Given the description of an element on the screen output the (x, y) to click on. 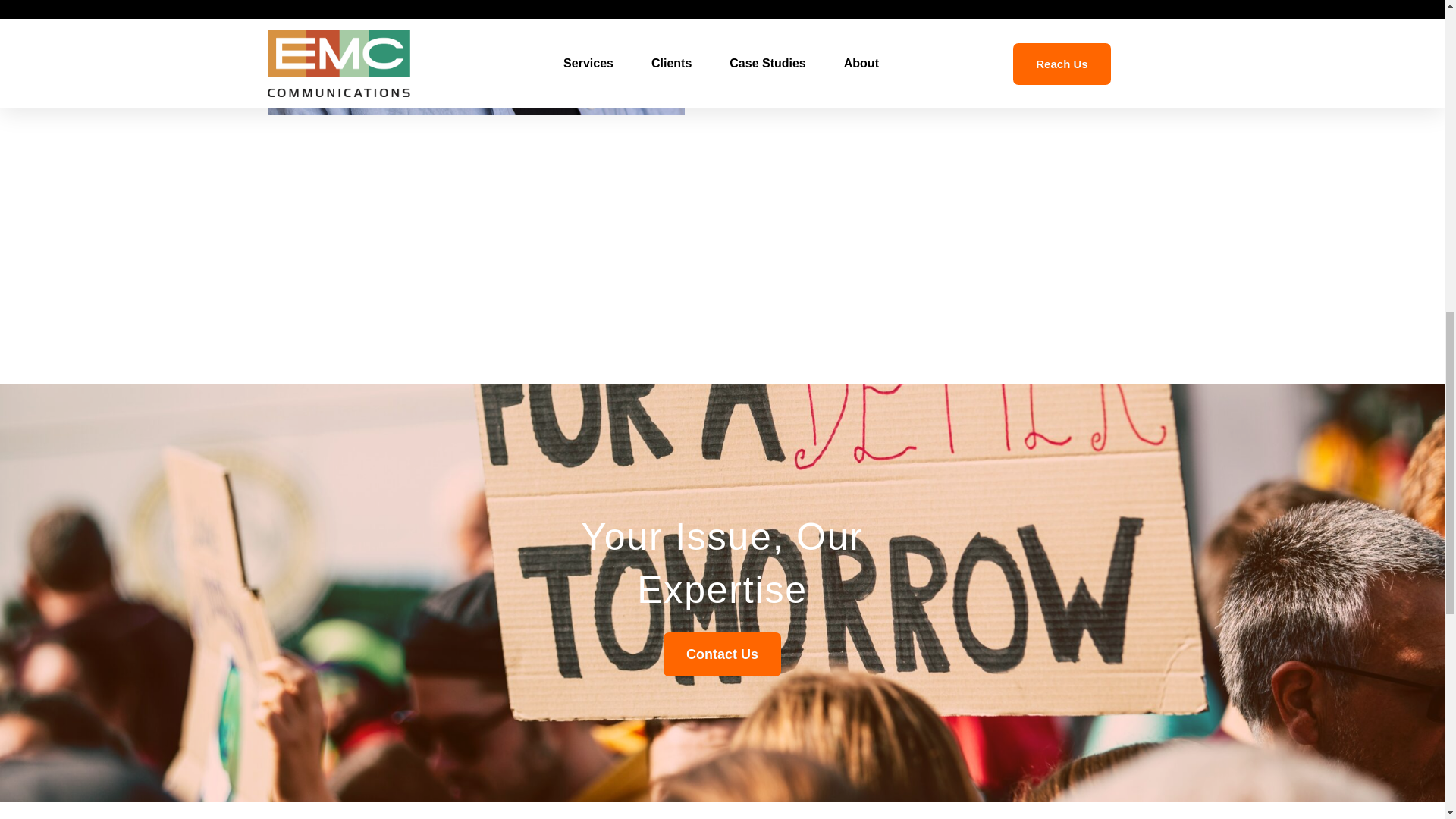
Contact Us (721, 654)
